Given the description of an element on the screen output the (x, y) to click on. 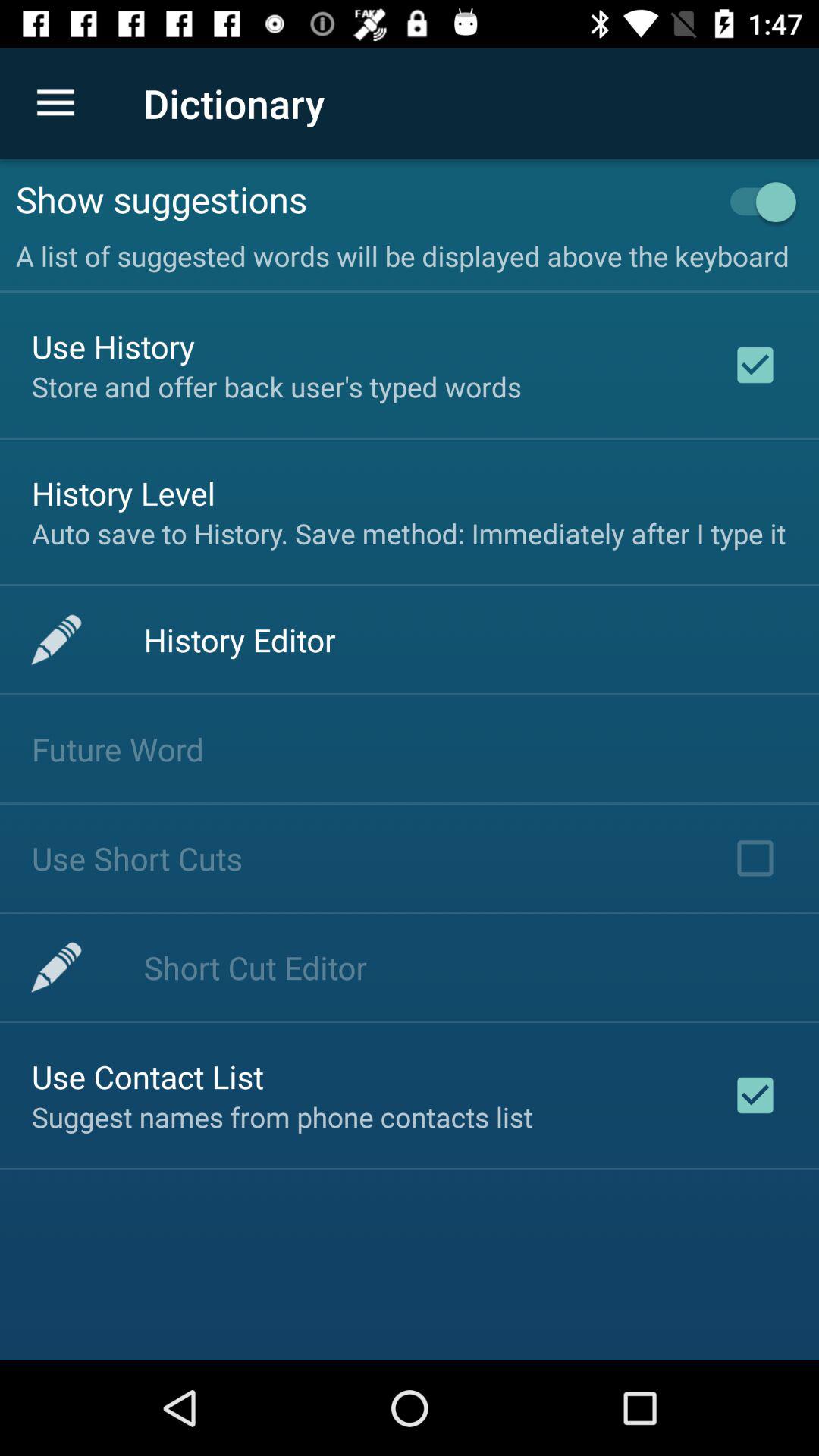
launch icon above the a list of item (361, 199)
